Given the description of an element on the screen output the (x, y) to click on. 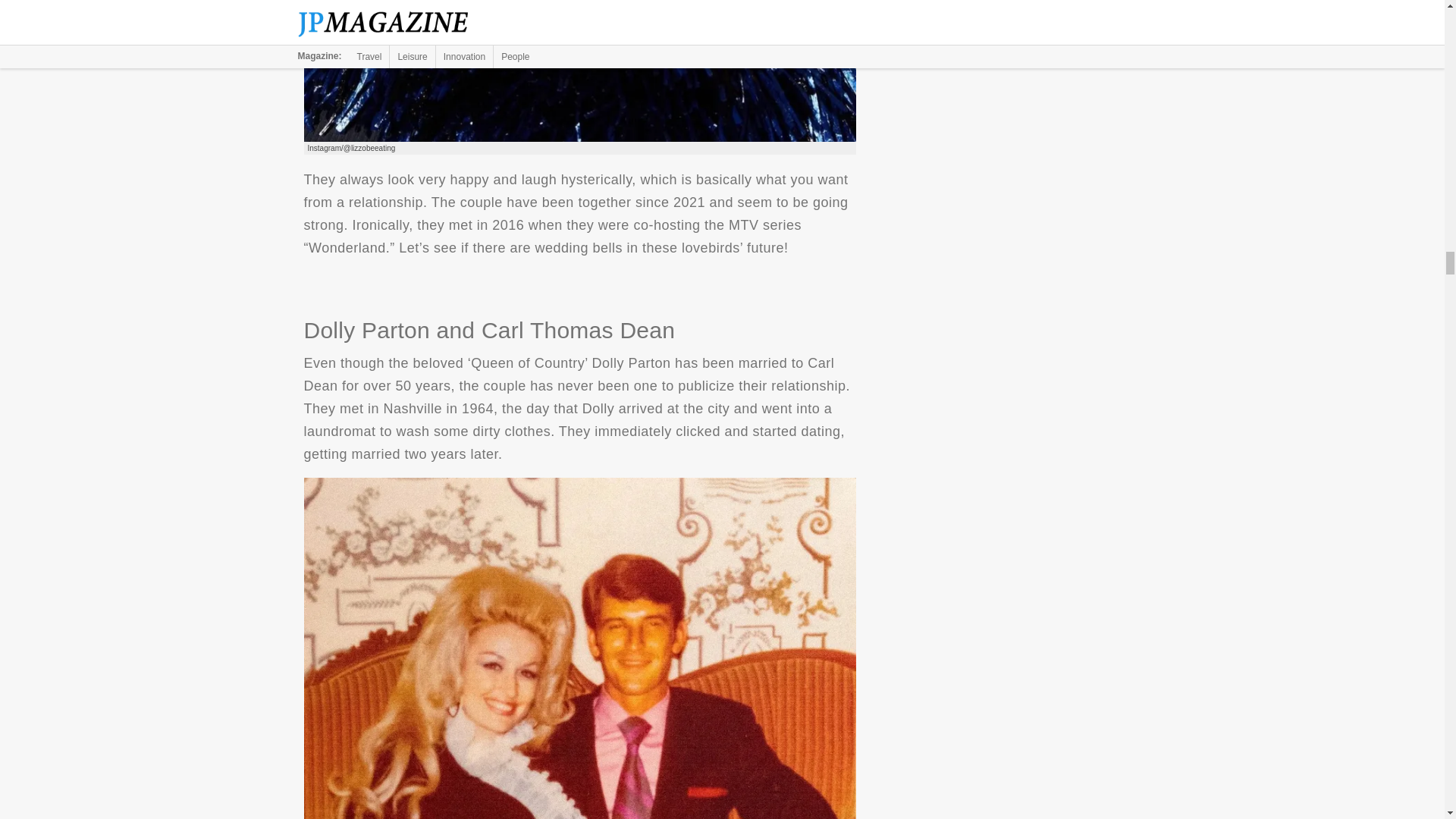
Lizzo and Myke Wright (579, 70)
